Given the description of an element on the screen output the (x, y) to click on. 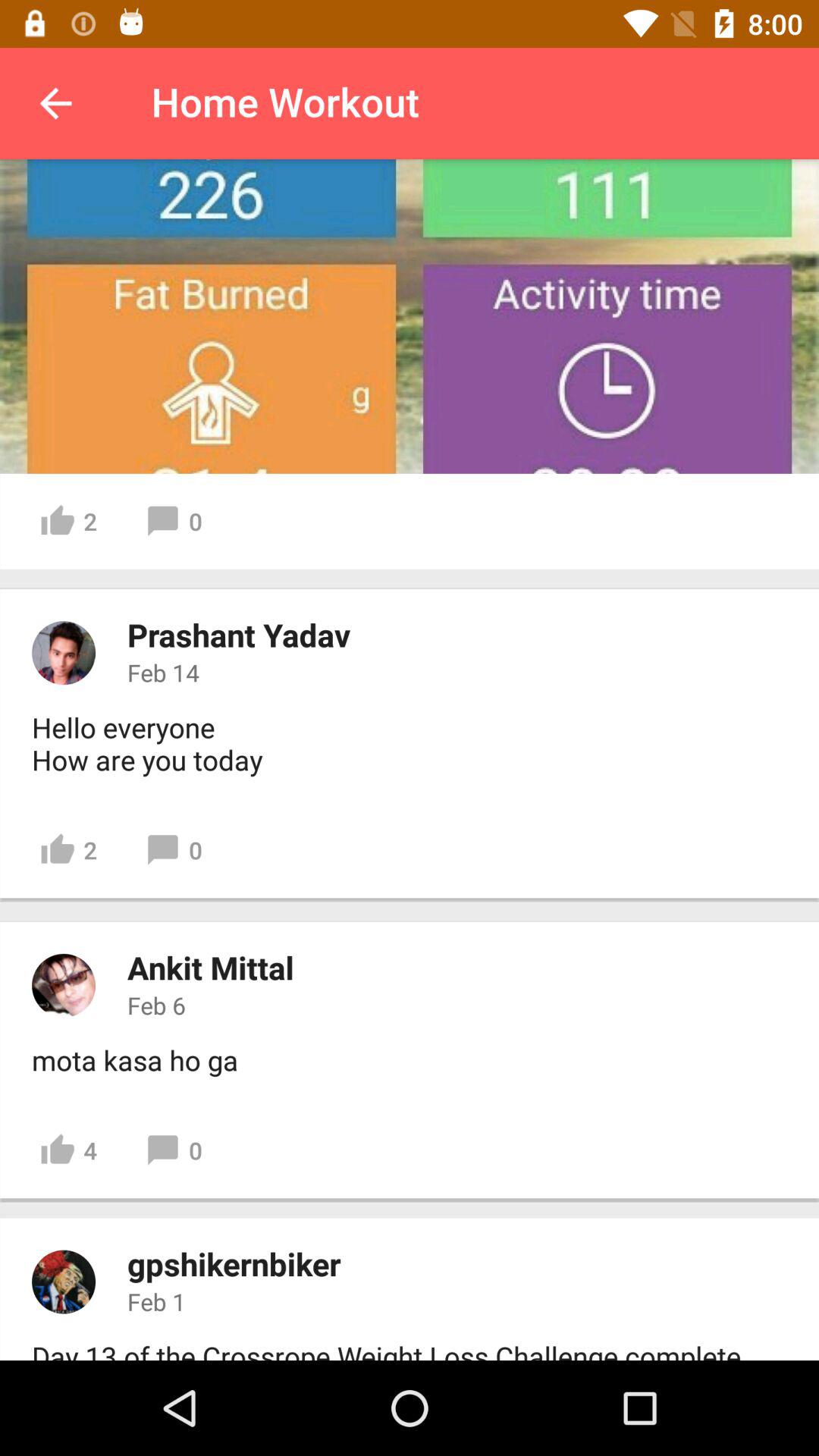
select icon below 2 icon (238, 634)
